Given the description of an element on the screen output the (x, y) to click on. 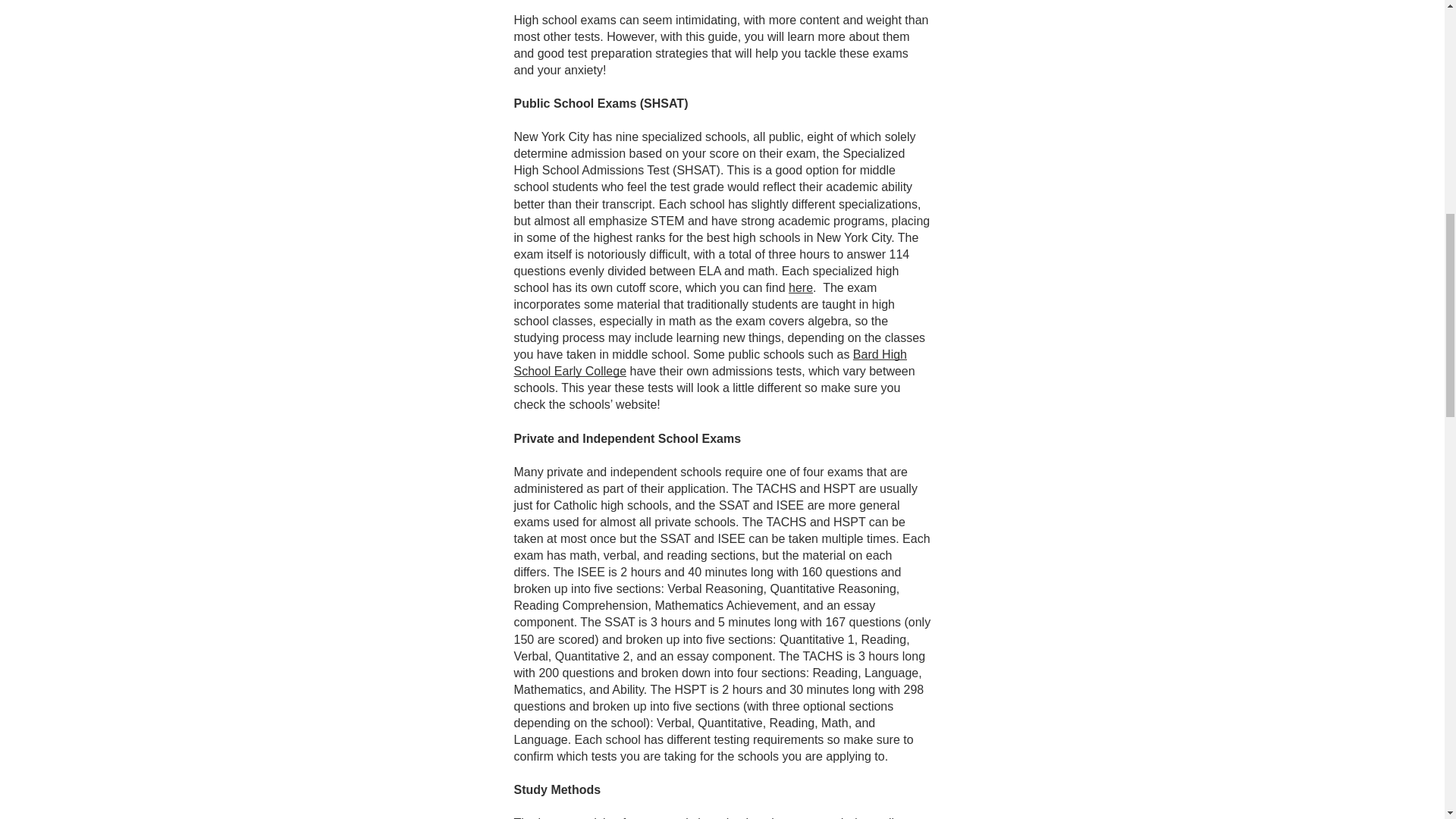
here (800, 287)
Bard High School Early College (710, 362)
